Given the description of an element on the screen output the (x, y) to click on. 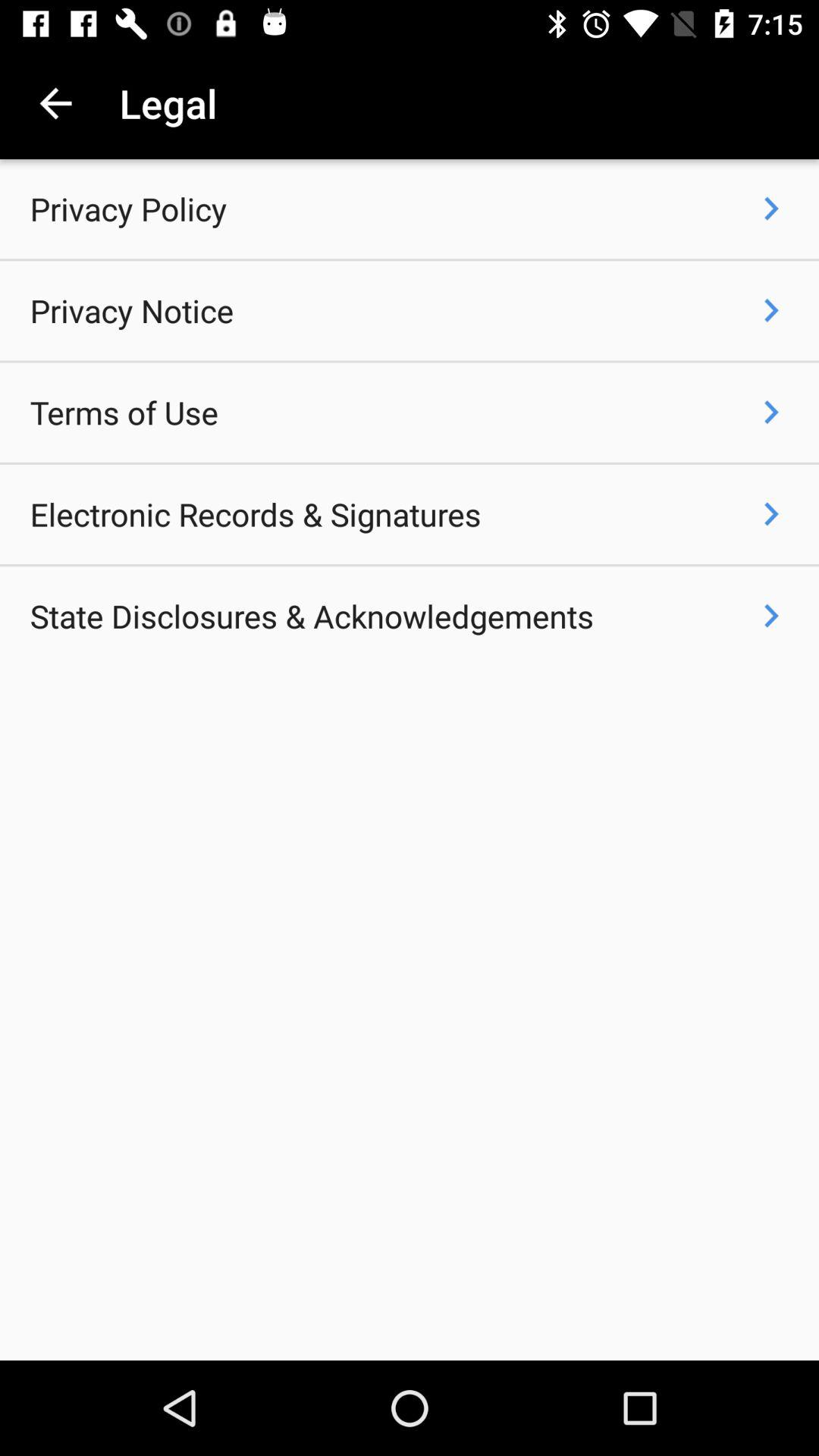
launch app next to legal item (55, 103)
